Given the description of an element on the screen output the (x, y) to click on. 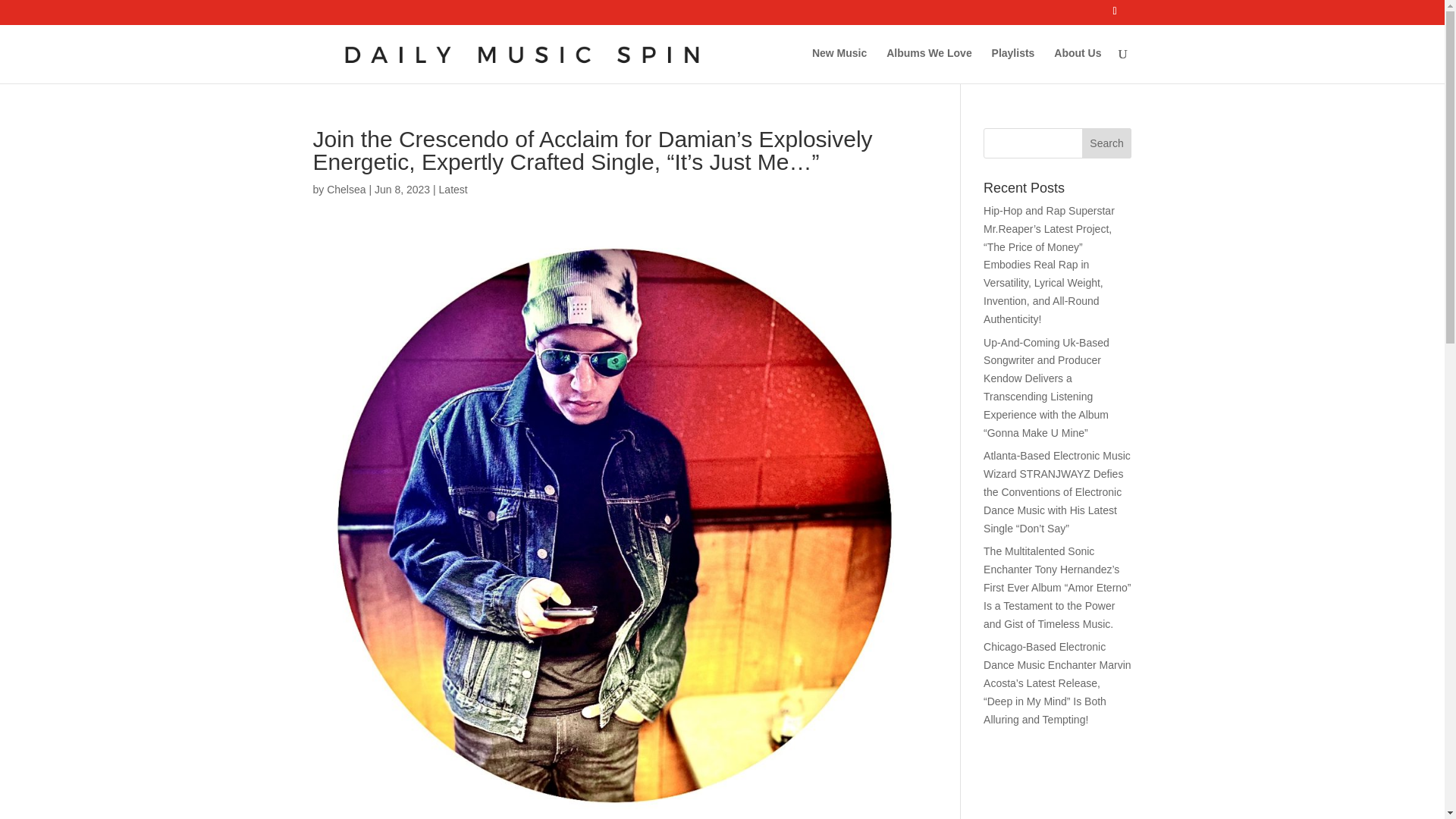
New Music (839, 65)
Search (1106, 142)
Search (1106, 142)
Chelsea (345, 189)
Albums We Love (929, 65)
Posts by Chelsea (345, 189)
About Us (1077, 65)
Latest (453, 189)
Playlists (1013, 65)
